Given the description of an element on the screen output the (x, y) to click on. 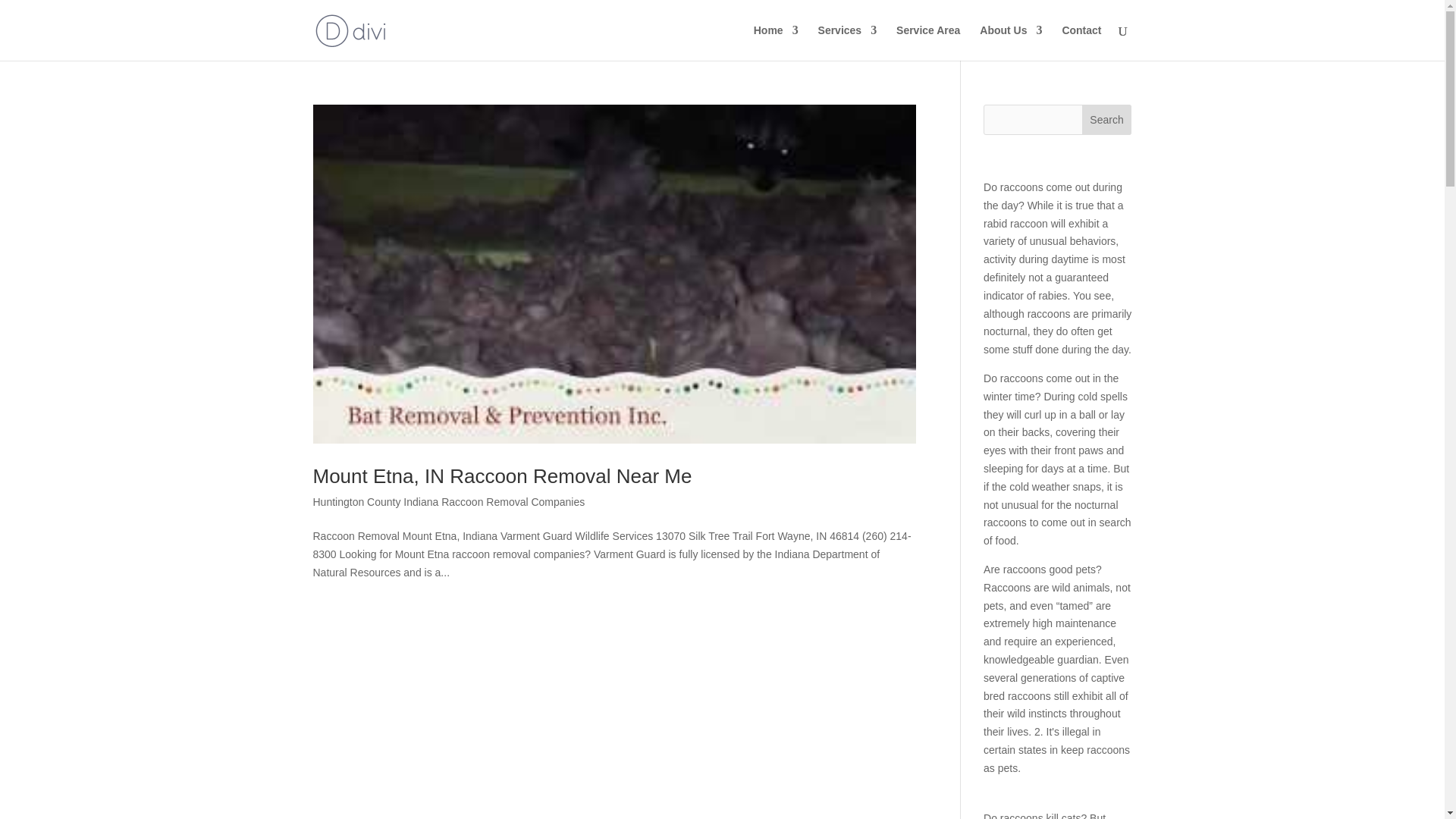
Contact (1080, 42)
About Us (1010, 42)
Search (1106, 119)
Home (775, 42)
Huntington County Indiana Raccoon Removal Companies (449, 501)
Services (847, 42)
Service Area (927, 42)
Mount Etna, IN Raccoon Removal Near Me (502, 476)
